Given the description of an element on the screen output the (x, y) to click on. 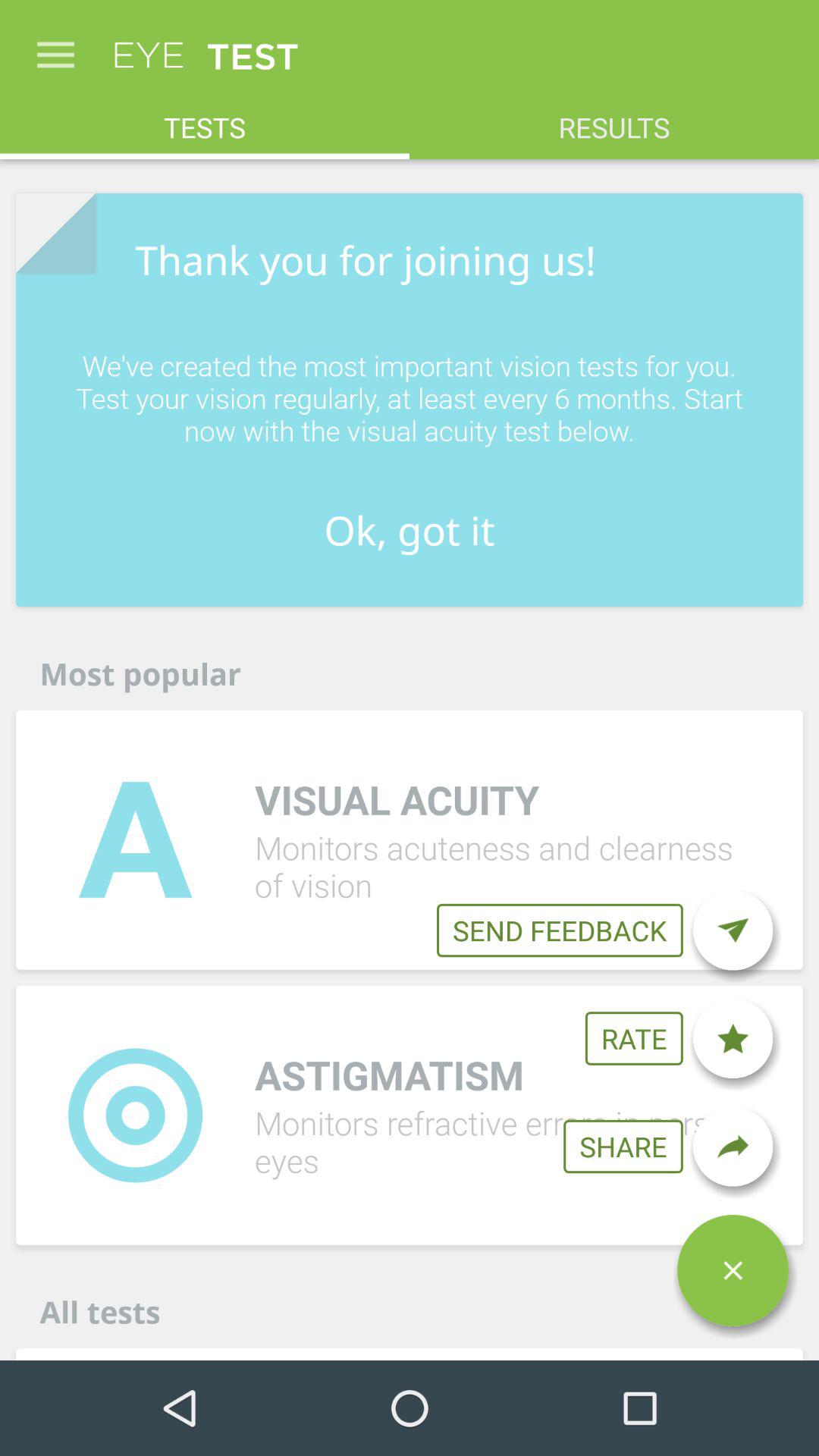
scroll until the results (614, 119)
